Given the description of an element on the screen output the (x, y) to click on. 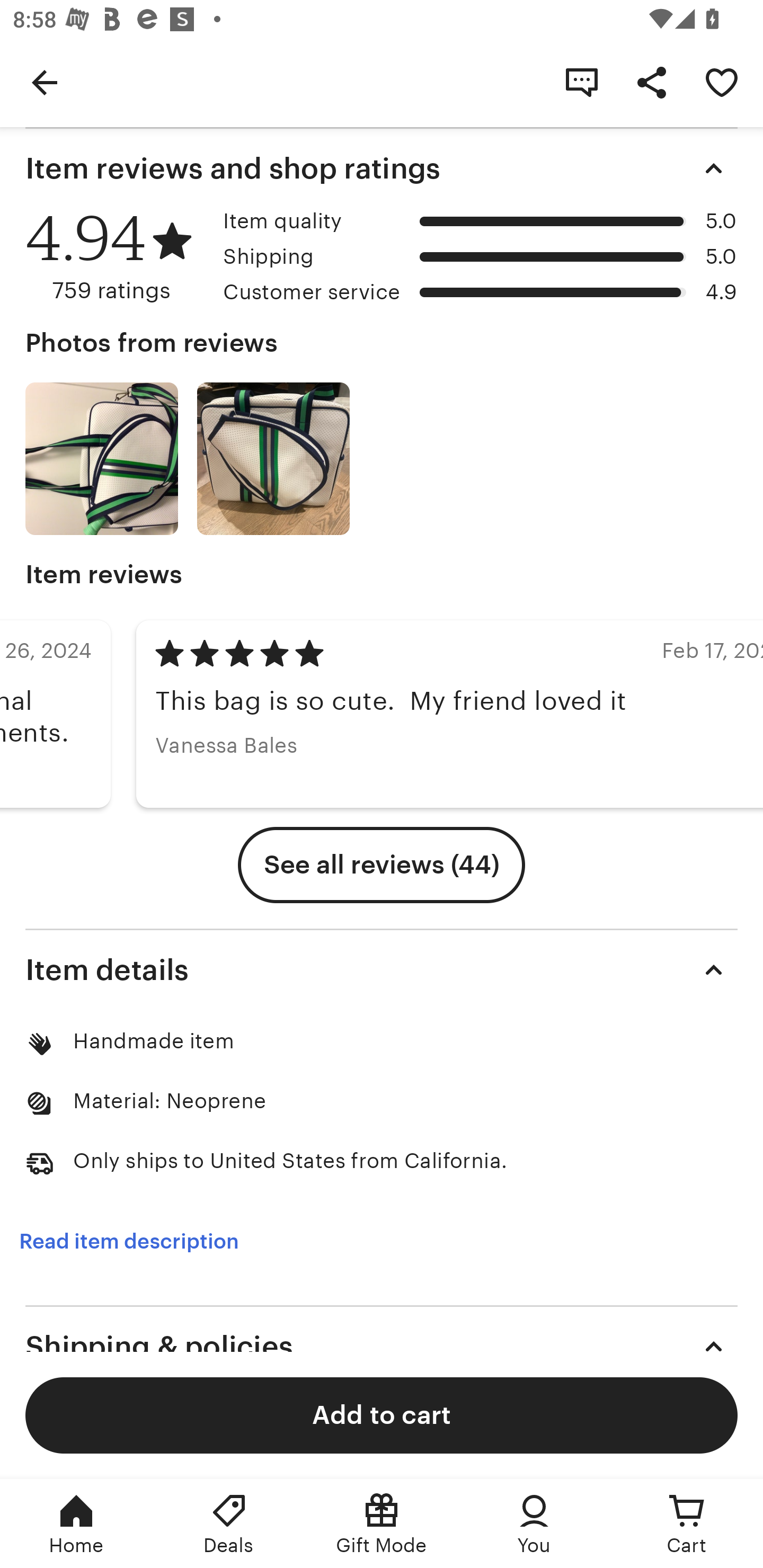
Navigate up (44, 81)
Contact shop (581, 81)
Share (651, 81)
Item reviews and shop ratings (381, 168)
4.94 759 ratings (117, 257)
Photo from review (101, 458)
Photo from review (272, 458)
See all reviews (44) (381, 864)
Item details (381, 969)
Read item description (128, 1241)
Shipping & policies (381, 1345)
Add to cart (381, 1414)
Deals (228, 1523)
Gift Mode (381, 1523)
You (533, 1523)
Cart (686, 1523)
